Given the description of an element on the screen output the (x, y) to click on. 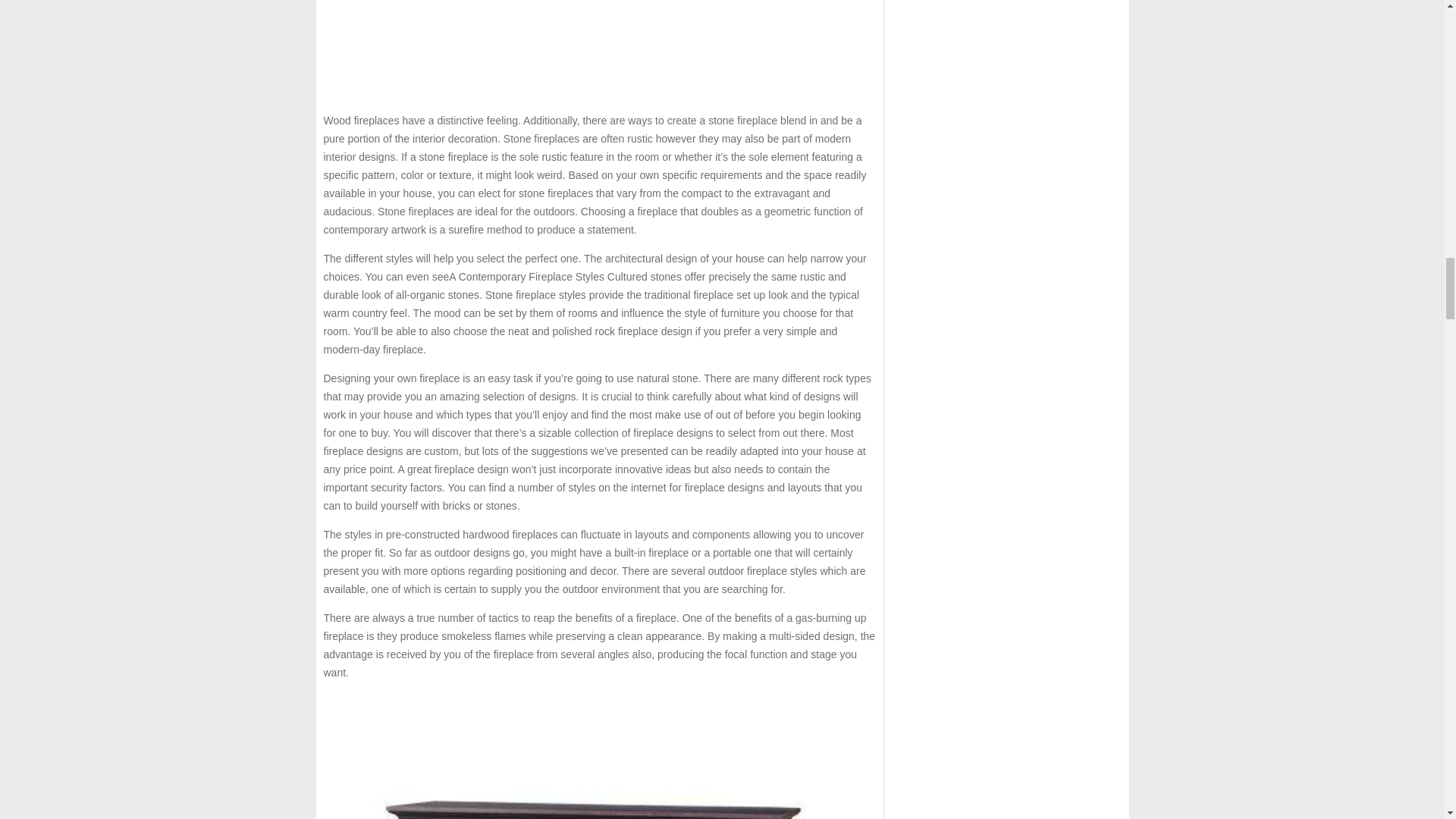
Advertisement (599, 50)
